Given the description of an element on the screen output the (x, y) to click on. 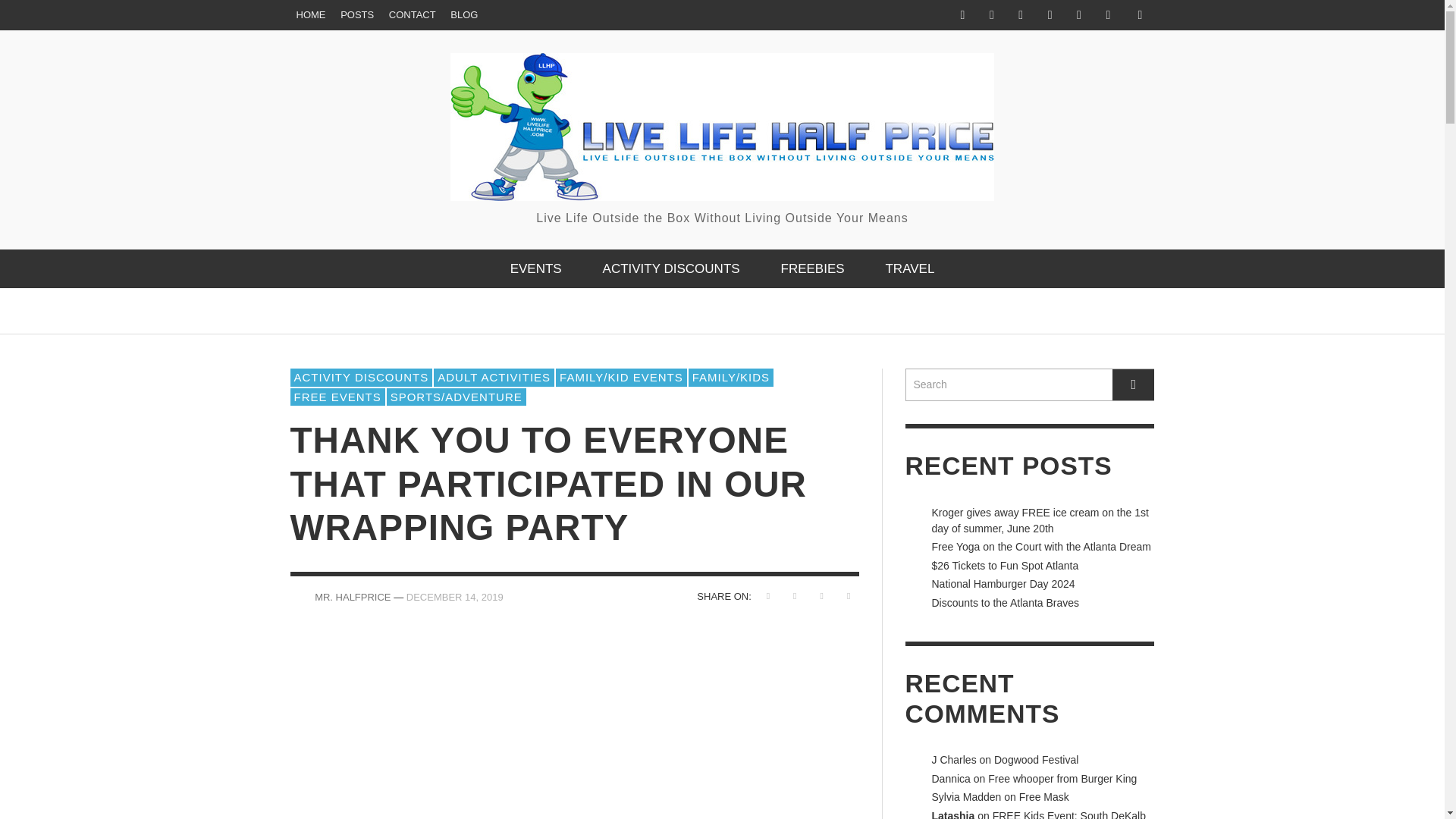
Facebook (961, 15)
Live Life Outside the Box Without Living Outside Your Means (721, 139)
Instagram (1020, 15)
CONTACT (412, 15)
ACTIVITY DISCOUNTS (670, 268)
Twitter (1107, 15)
LinkedIn (1049, 15)
Search (1029, 384)
HOME (310, 15)
POSTS (357, 15)
EVENTS (536, 268)
BLOG (463, 15)
Pinterest (1078, 15)
